Given the description of an element on the screen output the (x, y) to click on. 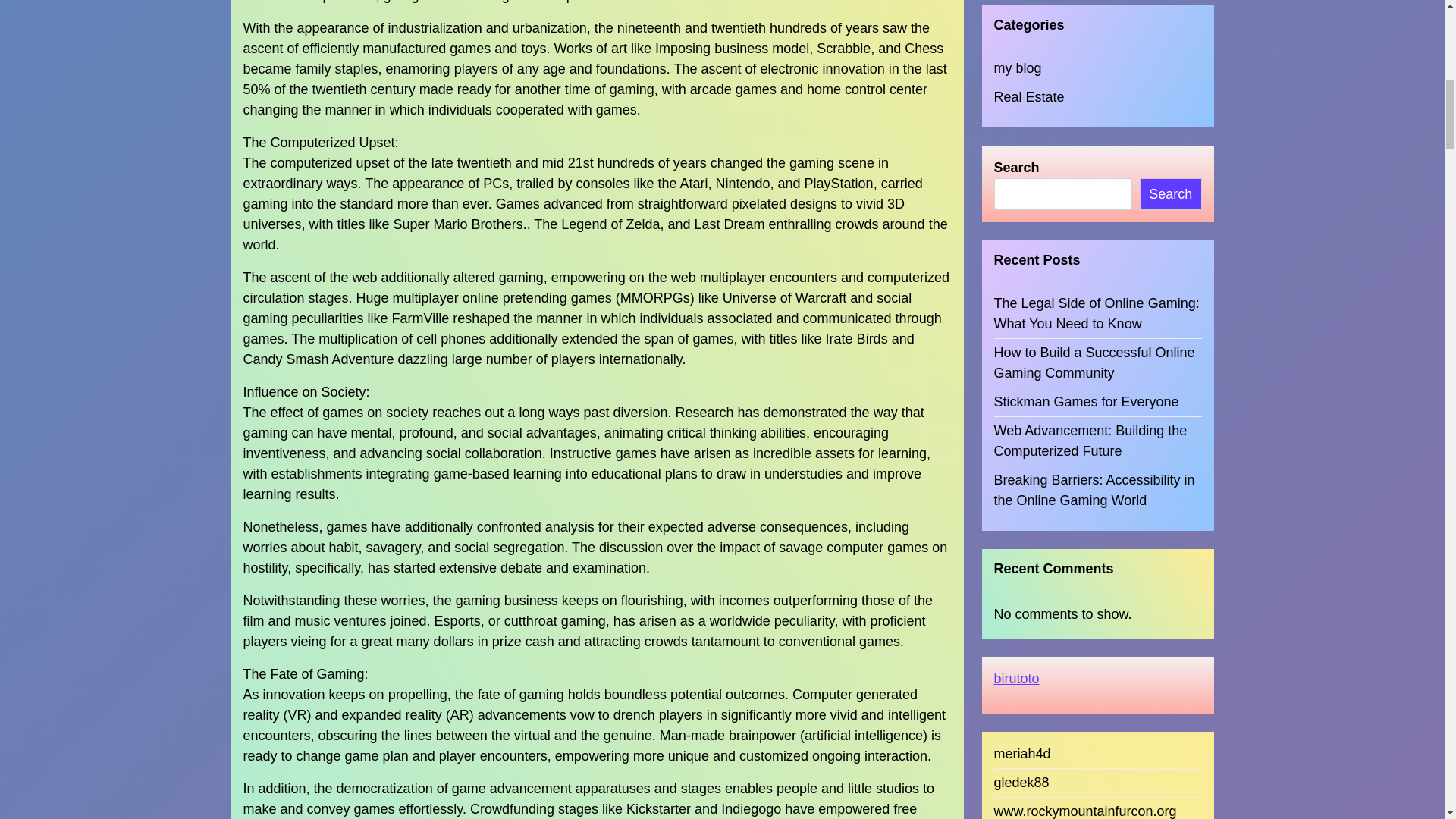
my blog (1016, 50)
The Legal Side of Online Gaming: What You Need to Know (1096, 295)
Web Advancement: Building the Computerized Future (1096, 422)
Stickman Games for Everyone (1084, 383)
Search (1171, 175)
Real Estate (1028, 78)
Breaking Barriers: Accessibility in the Online Gaming World (1096, 472)
How to Build a Successful Online Gaming Community (1096, 344)
